Given the description of an element on the screen output the (x, y) to click on. 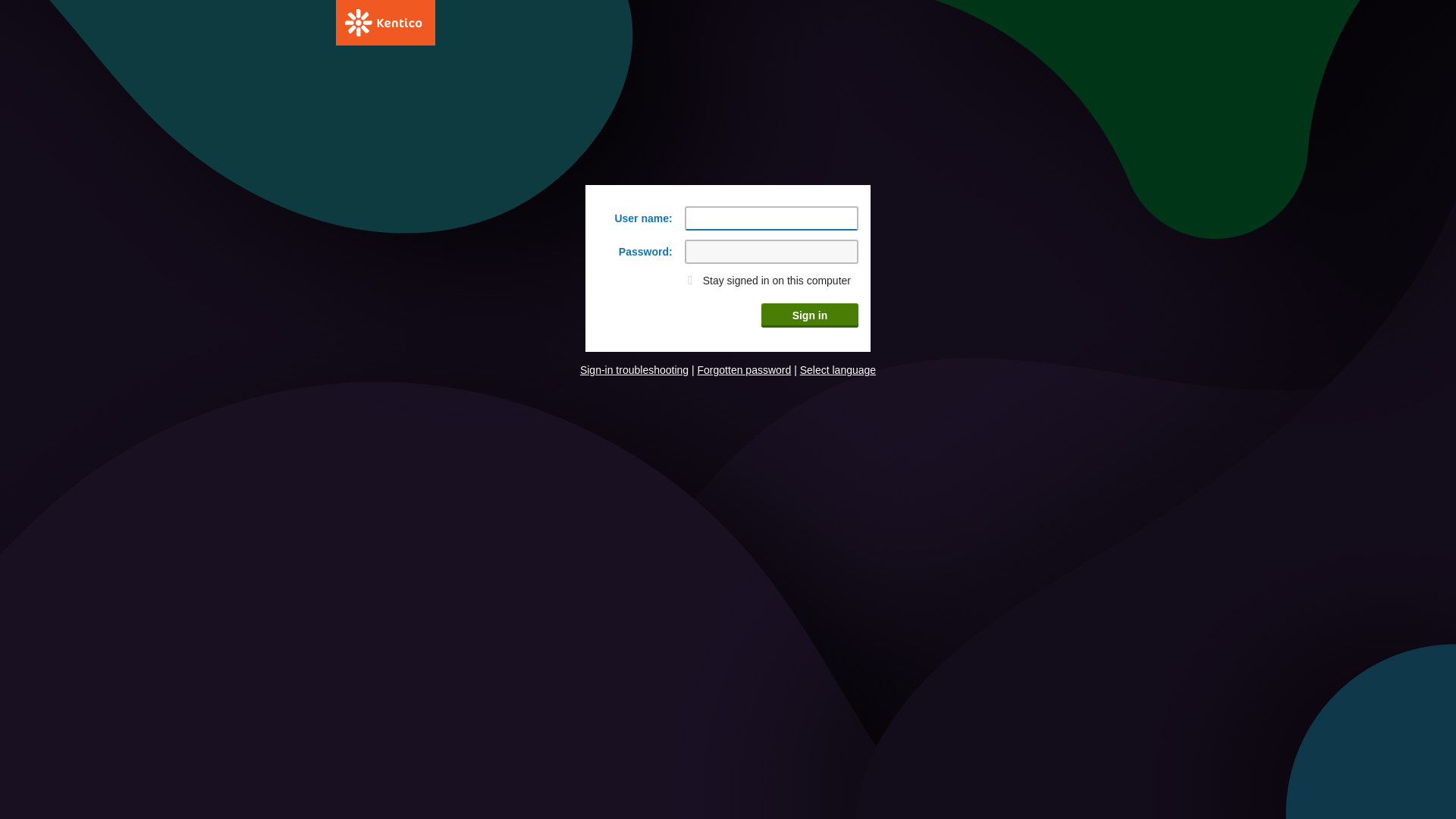
Select language Element type: text (837, 370)
Sign-in troubleshooting Element type: text (634, 370)
Sign in Element type: text (809, 315)
Forgotten password Element type: text (744, 370)
